Given the description of an element on the screen output the (x, y) to click on. 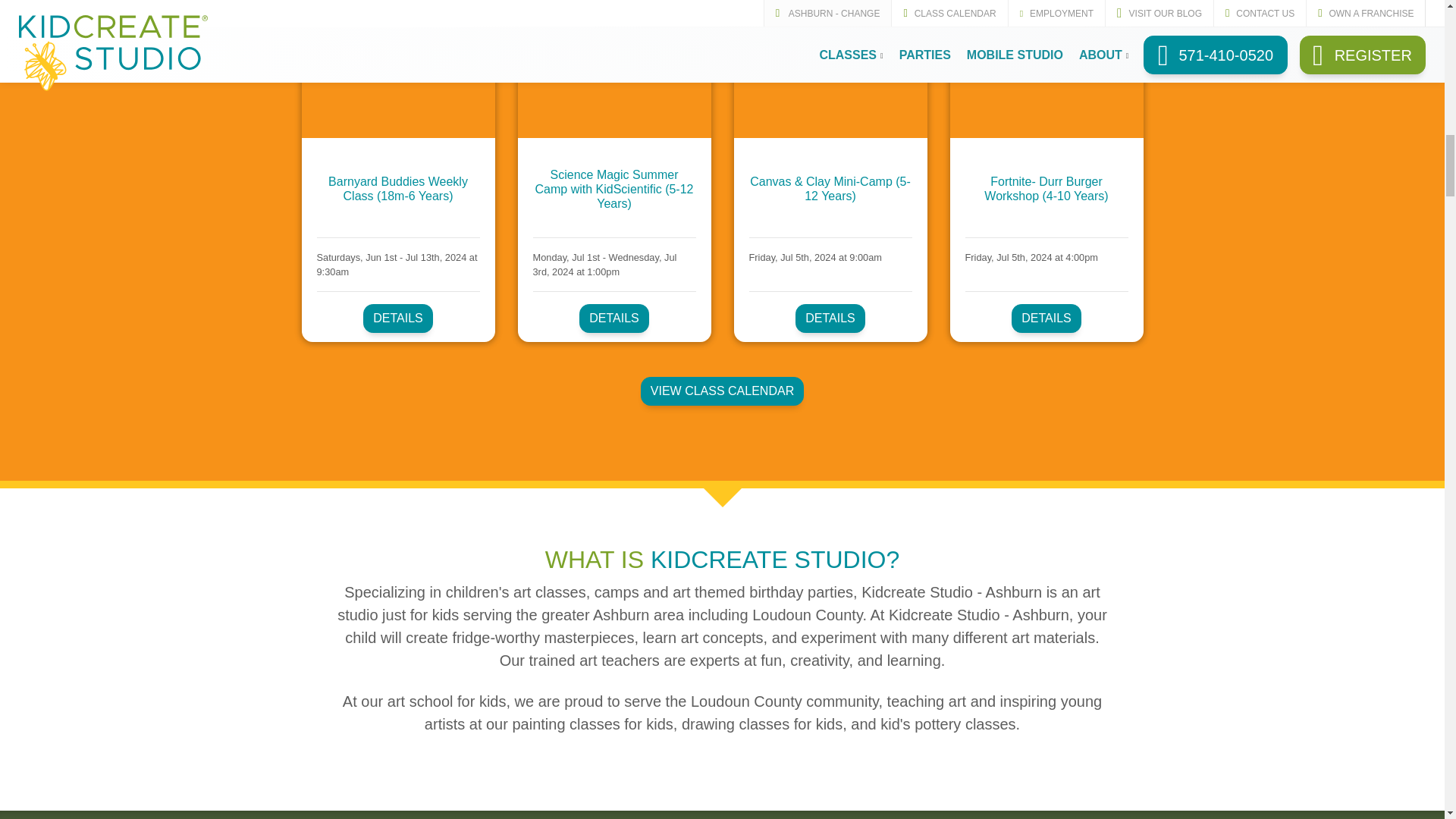
View Full Class Calendar (721, 390)
